Given the description of an element on the screen output the (x, y) to click on. 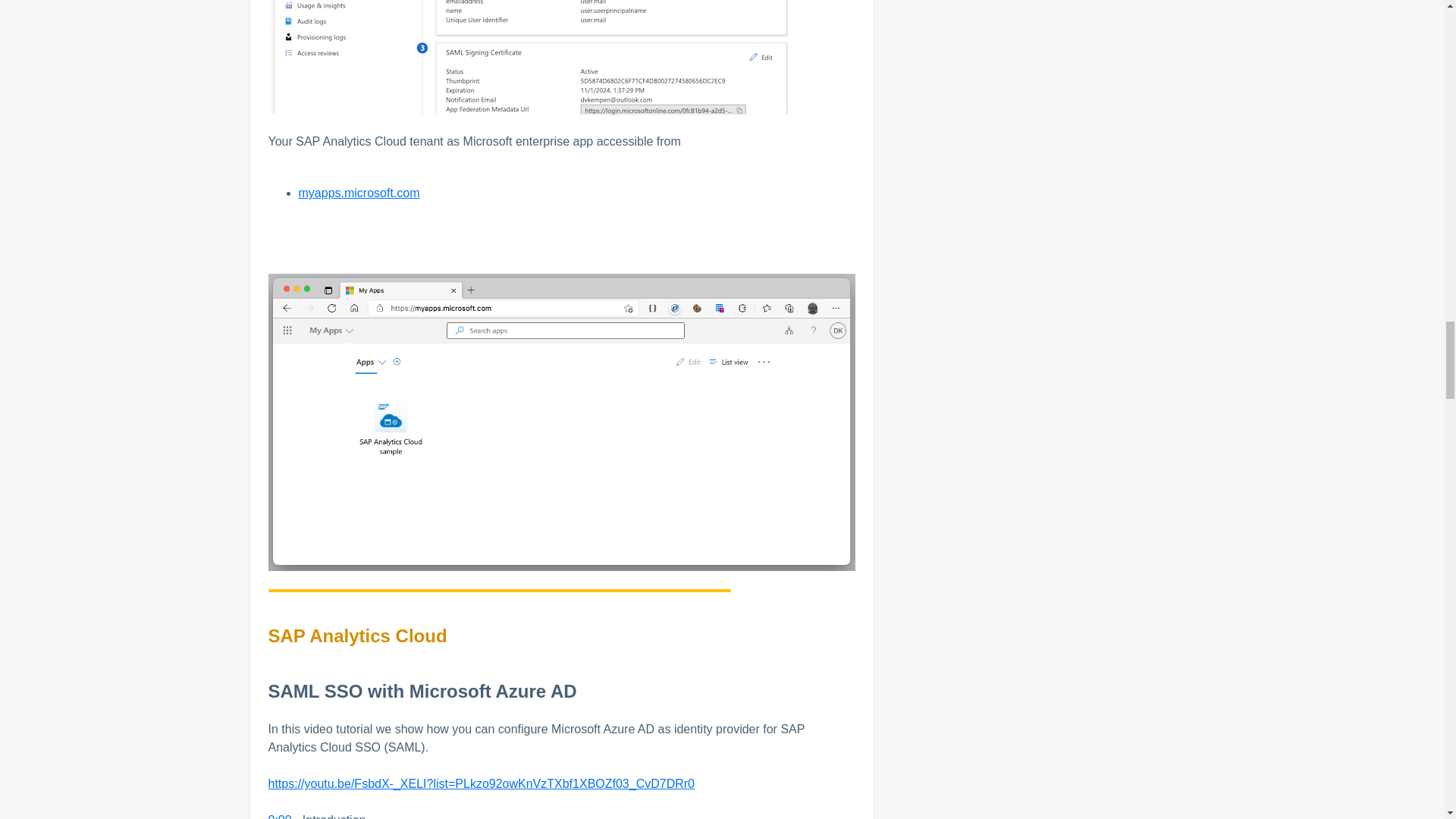
0:00 (279, 816)
myapps.microsoft.com (359, 192)
